Given the description of an element on the screen output the (x, y) to click on. 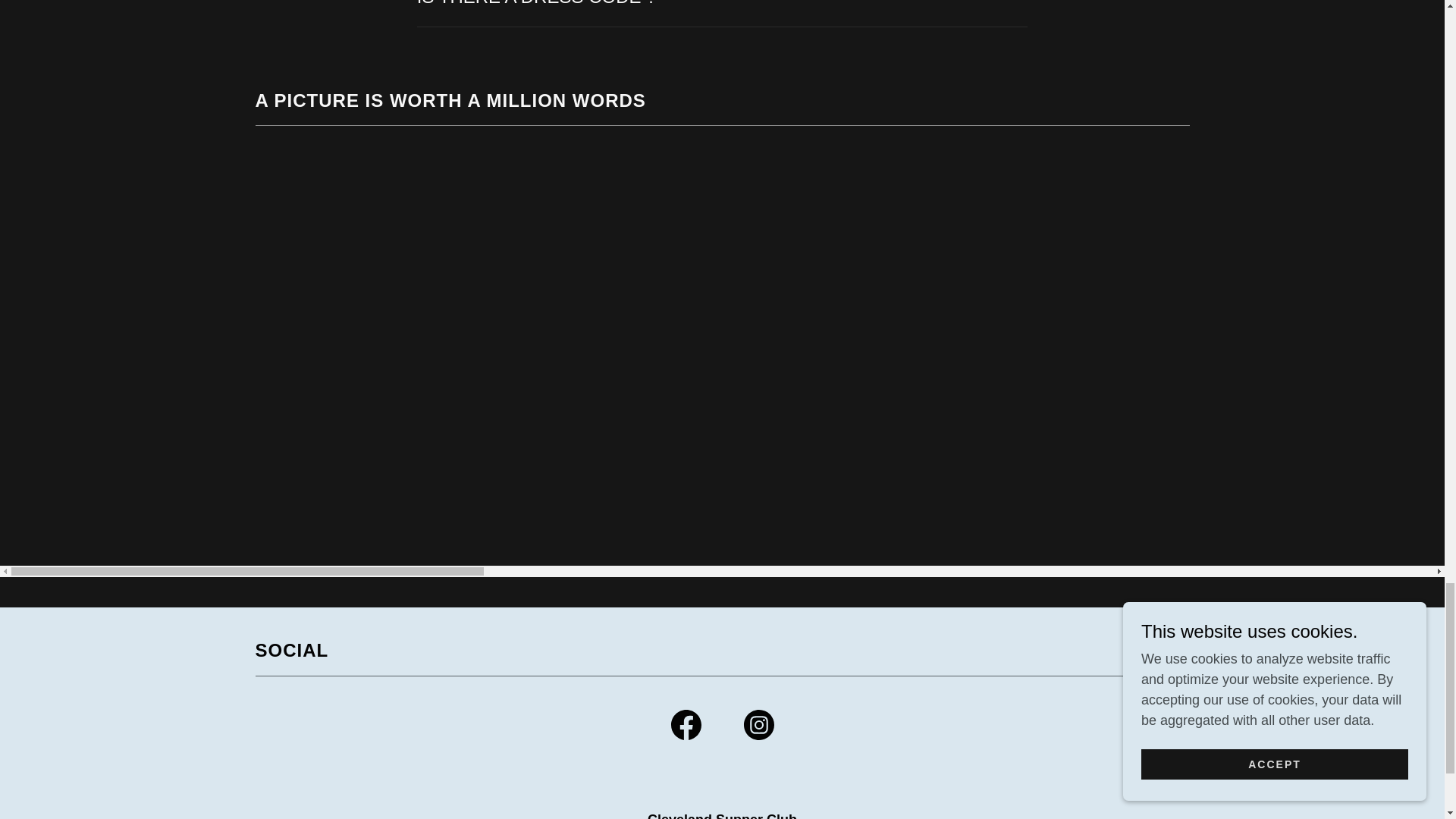
IS THERE A DRESS CODE ? (721, 7)
